Given the description of an element on the screen output the (x, y) to click on. 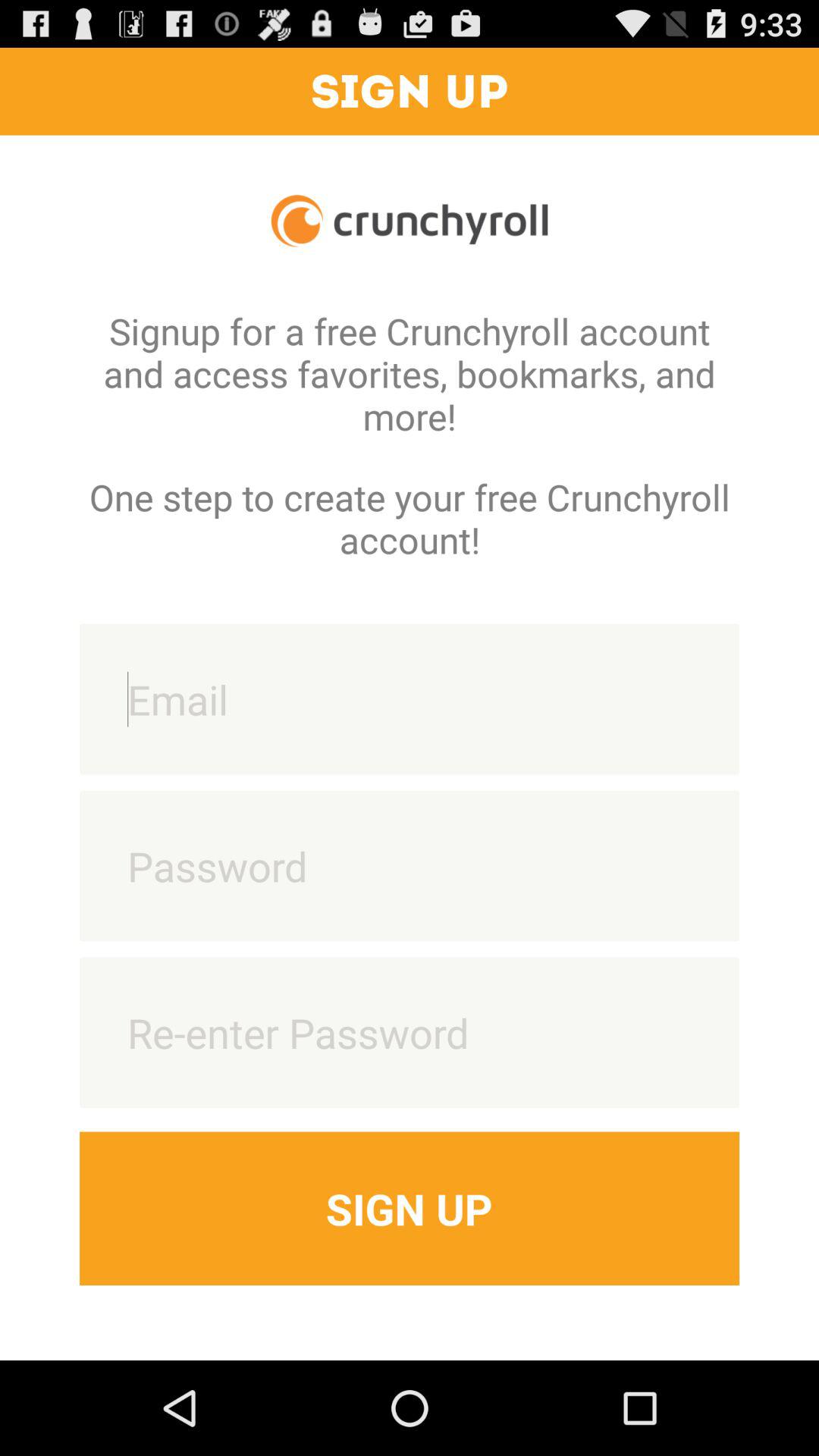
re-enter password feild (409, 1032)
